Given the description of an element on the screen output the (x, y) to click on. 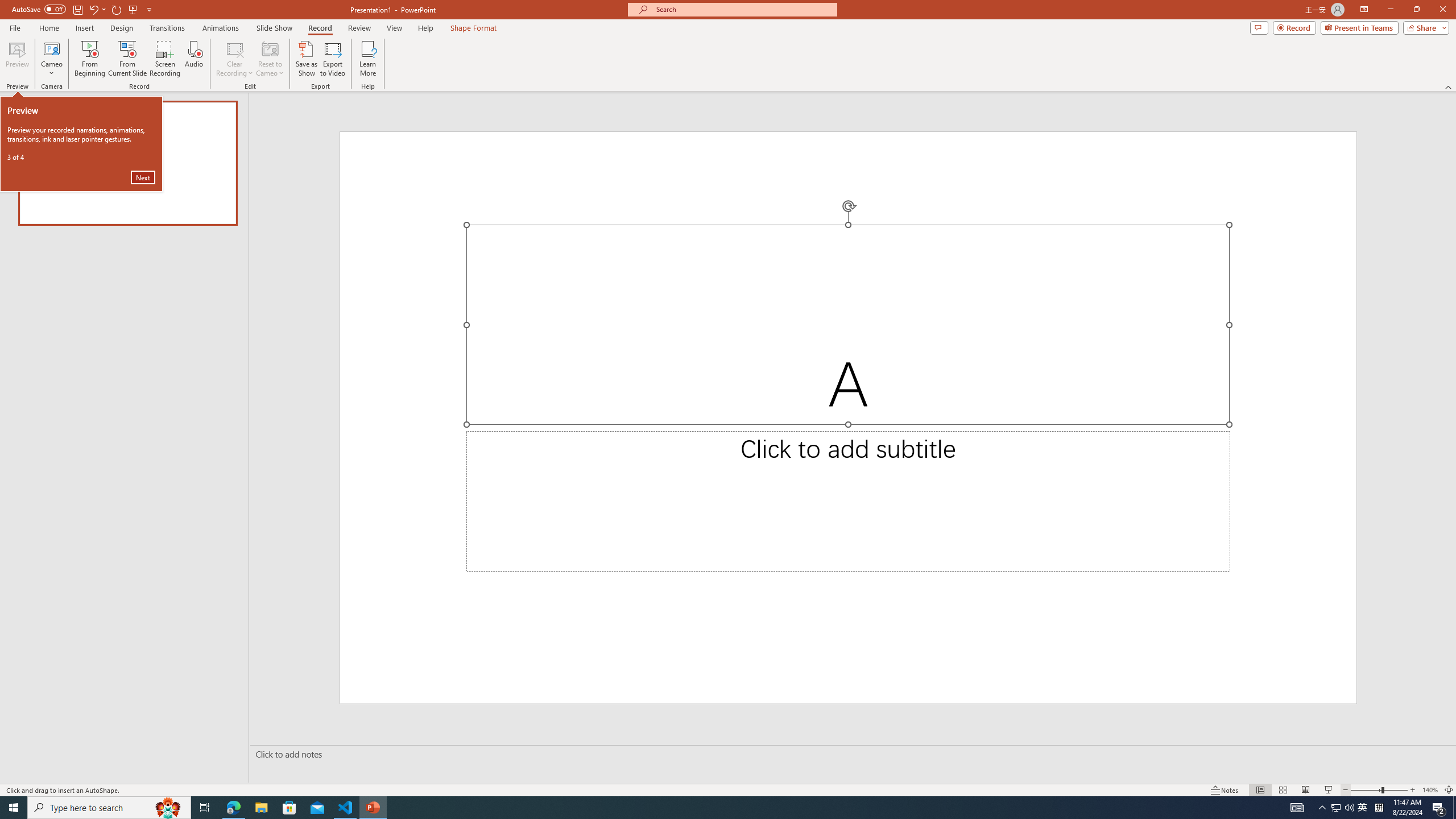
From Beginning... (89, 58)
Learn More (368, 58)
